Given the description of an element on the screen output the (x, y) to click on. 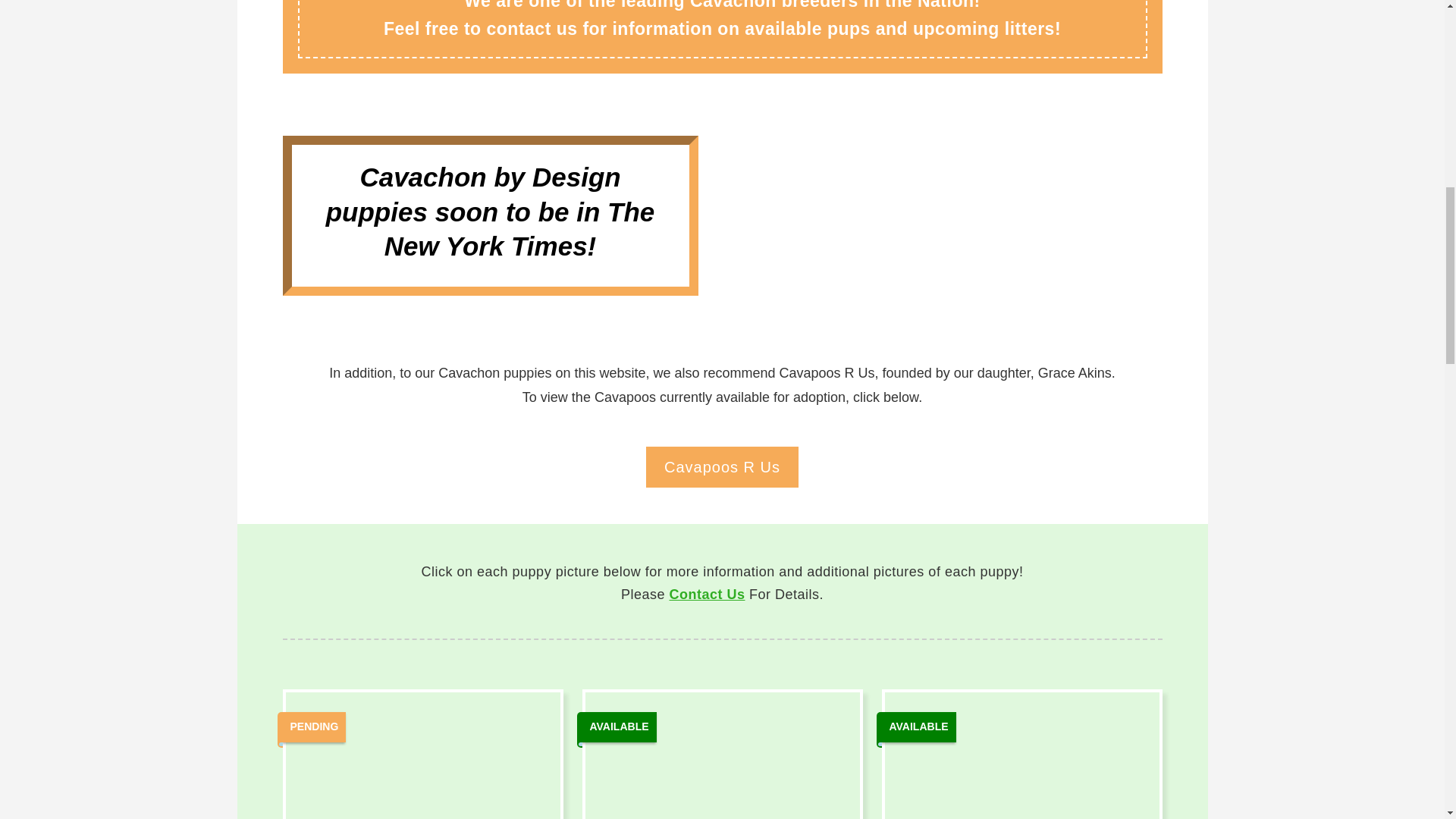
Meadow (722, 755)
Meadow (1020, 755)
Meadow (422, 755)
